Given the description of an element on the screen output the (x, y) to click on. 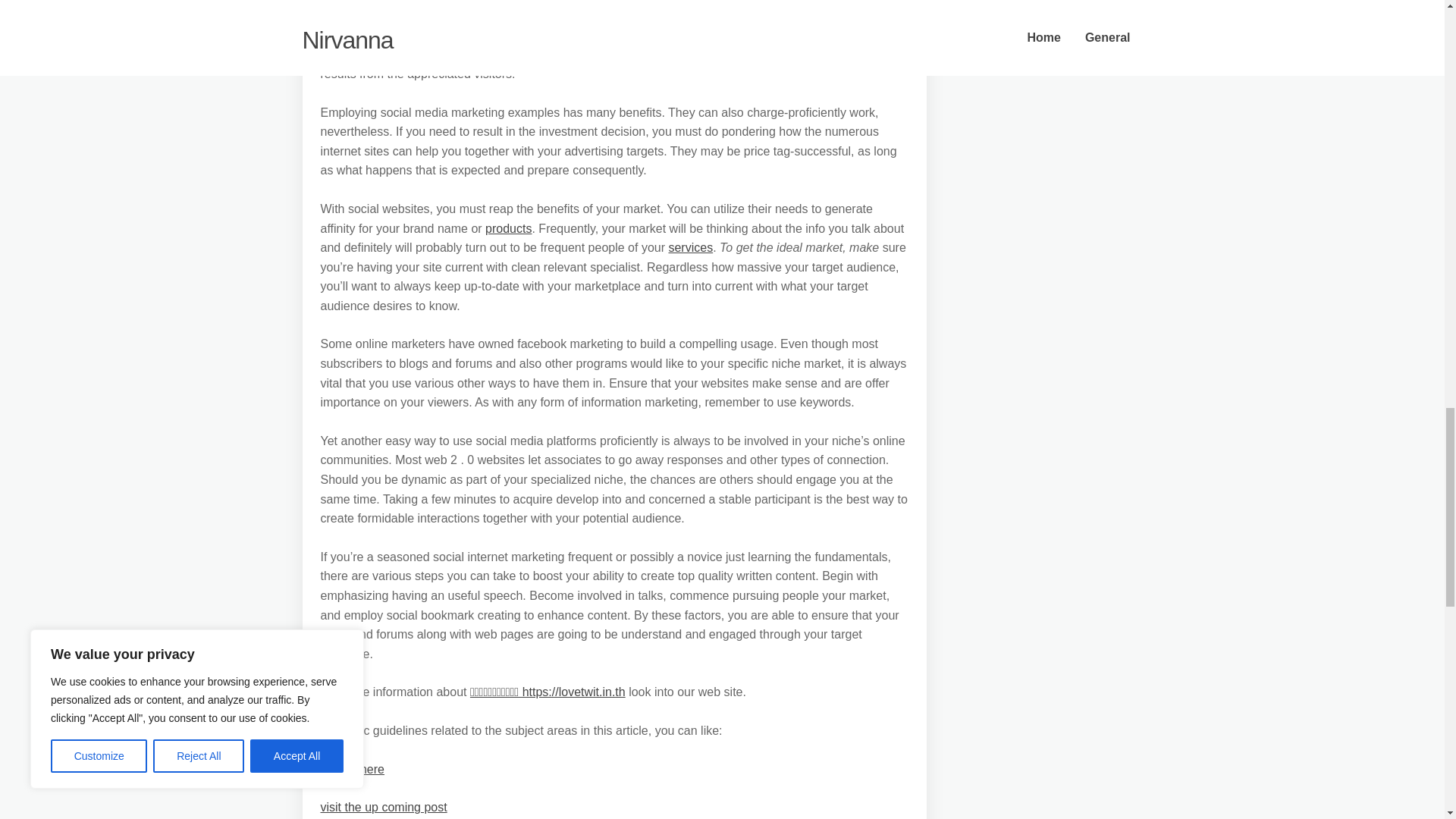
Moved here (352, 768)
services (690, 246)
products (507, 227)
visit the up coming post (383, 807)
